Given the description of an element on the screen output the (x, y) to click on. 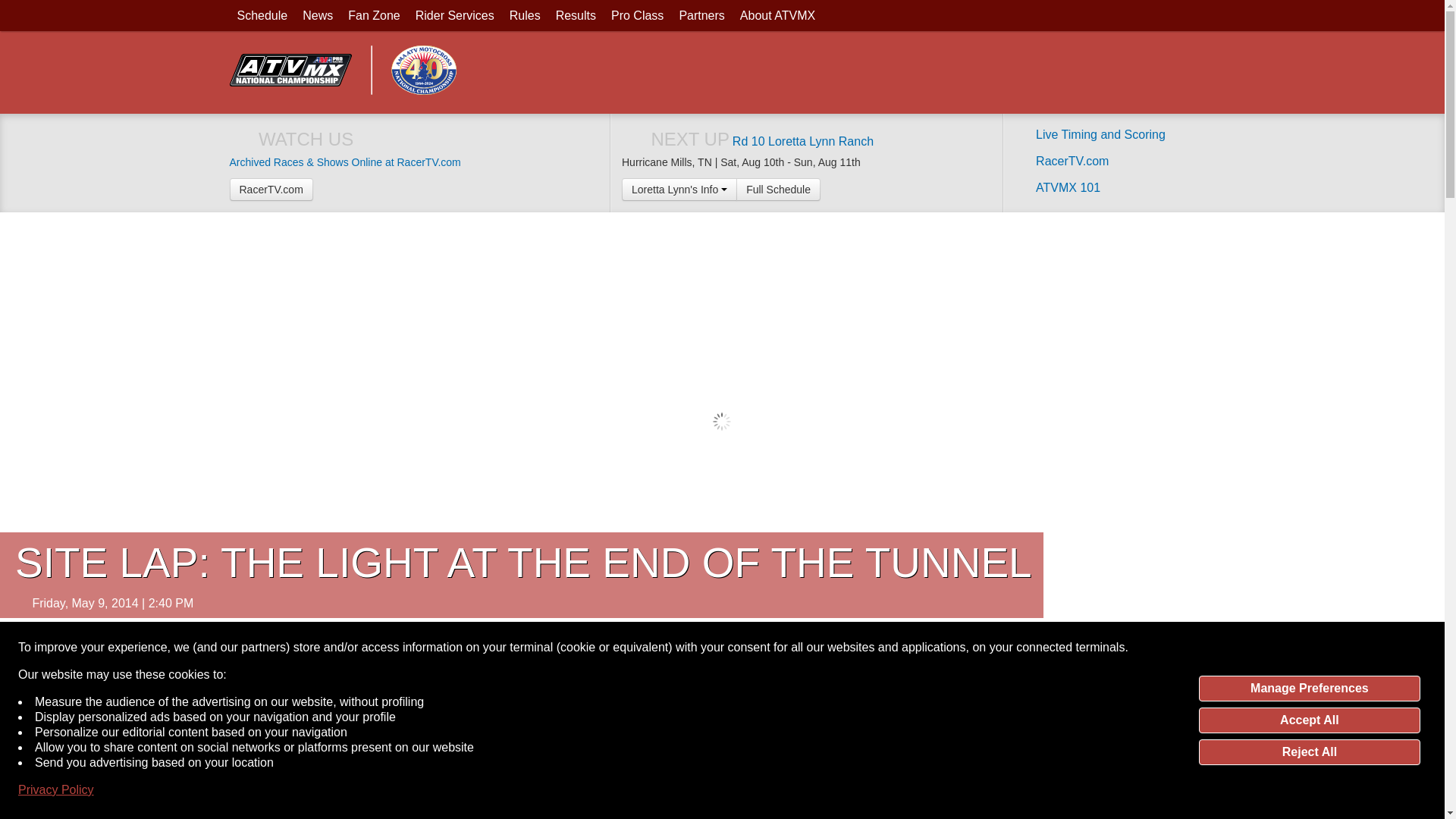
Schedule (261, 15)
Accept All (1309, 720)
Information for ATVMX Fans (373, 15)
Privacy Policy (55, 789)
Results (576, 15)
Rider Services (454, 15)
Fan Zone (373, 15)
Reject All (1309, 751)
News (317, 15)
